Given the description of an element on the screen output the (x, y) to click on. 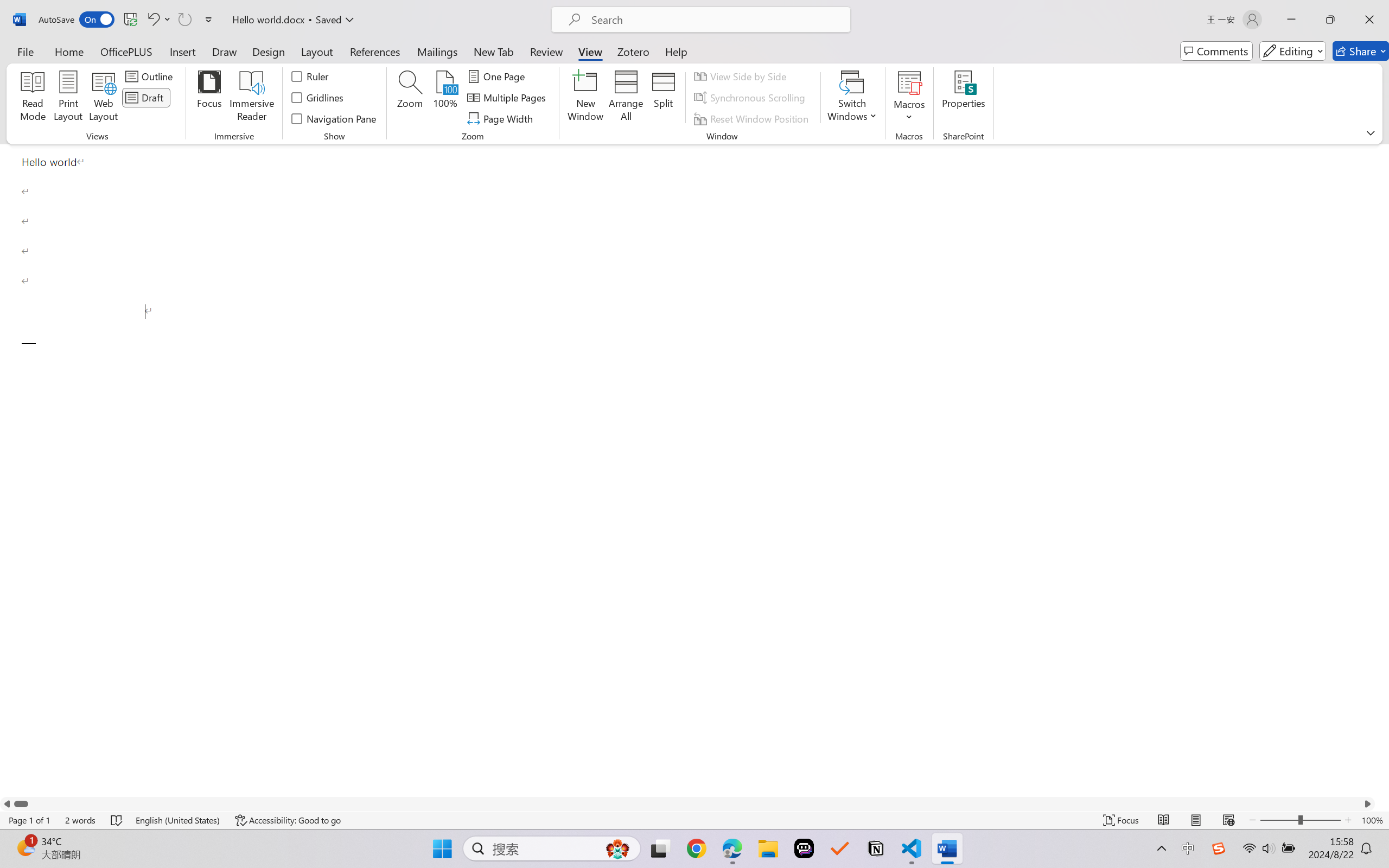
Insert (182, 51)
Reset Window Position (752, 118)
Comments (1216, 50)
Restore Down (1330, 19)
